Given the description of an element on the screen output the (x, y) to click on. 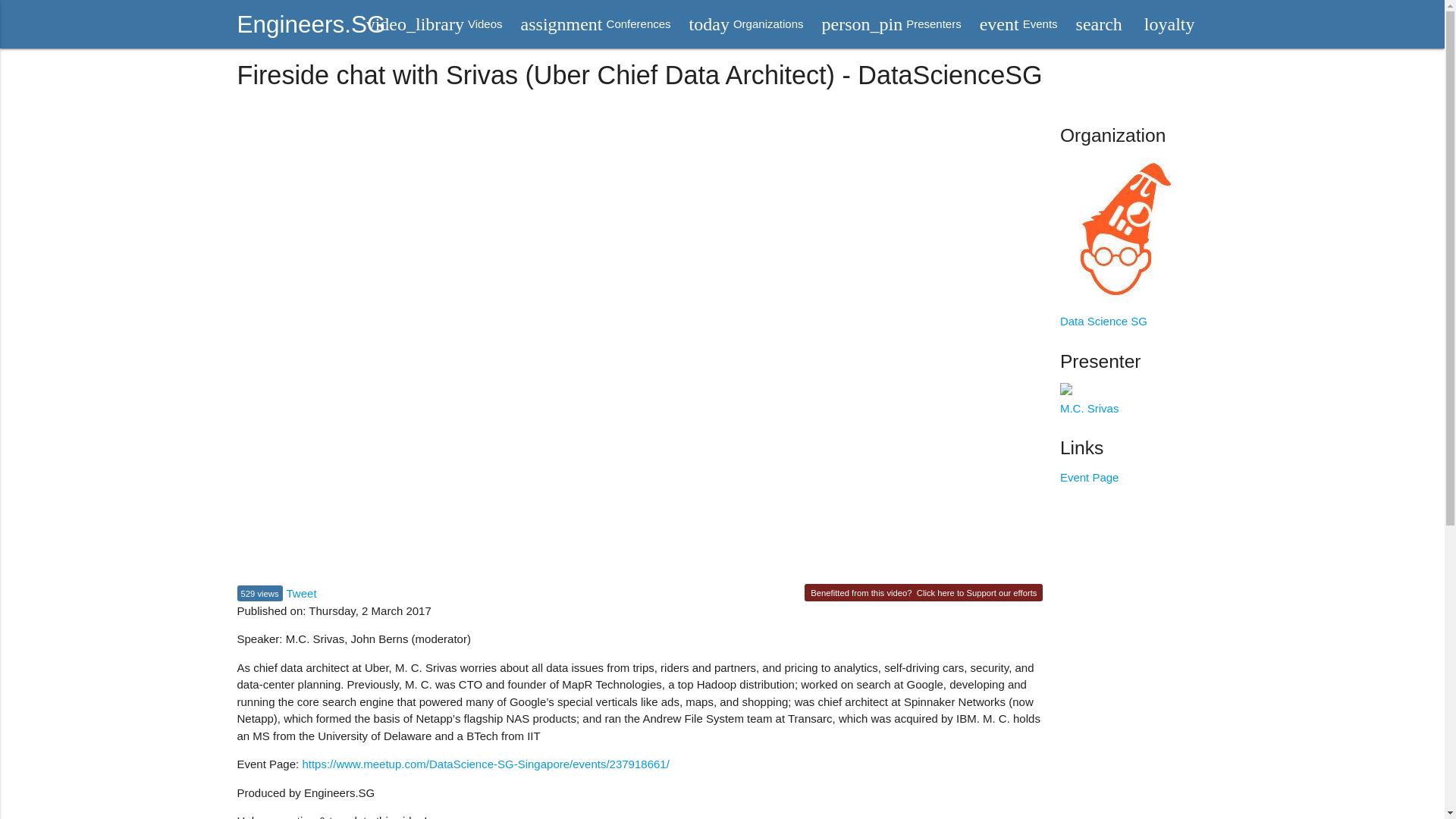
Organizations (745, 24)
Engineers.SG (595, 24)
Conferences (310, 24)
Click here to Support our efforts (595, 24)
Presenters (976, 592)
Events (891, 24)
Event Page (1019, 24)
Videos (745, 24)
Tweet (1089, 477)
Data Science SG (434, 24)
M.C. Srivas (301, 593)
